Given the description of an element on the screen output the (x, y) to click on. 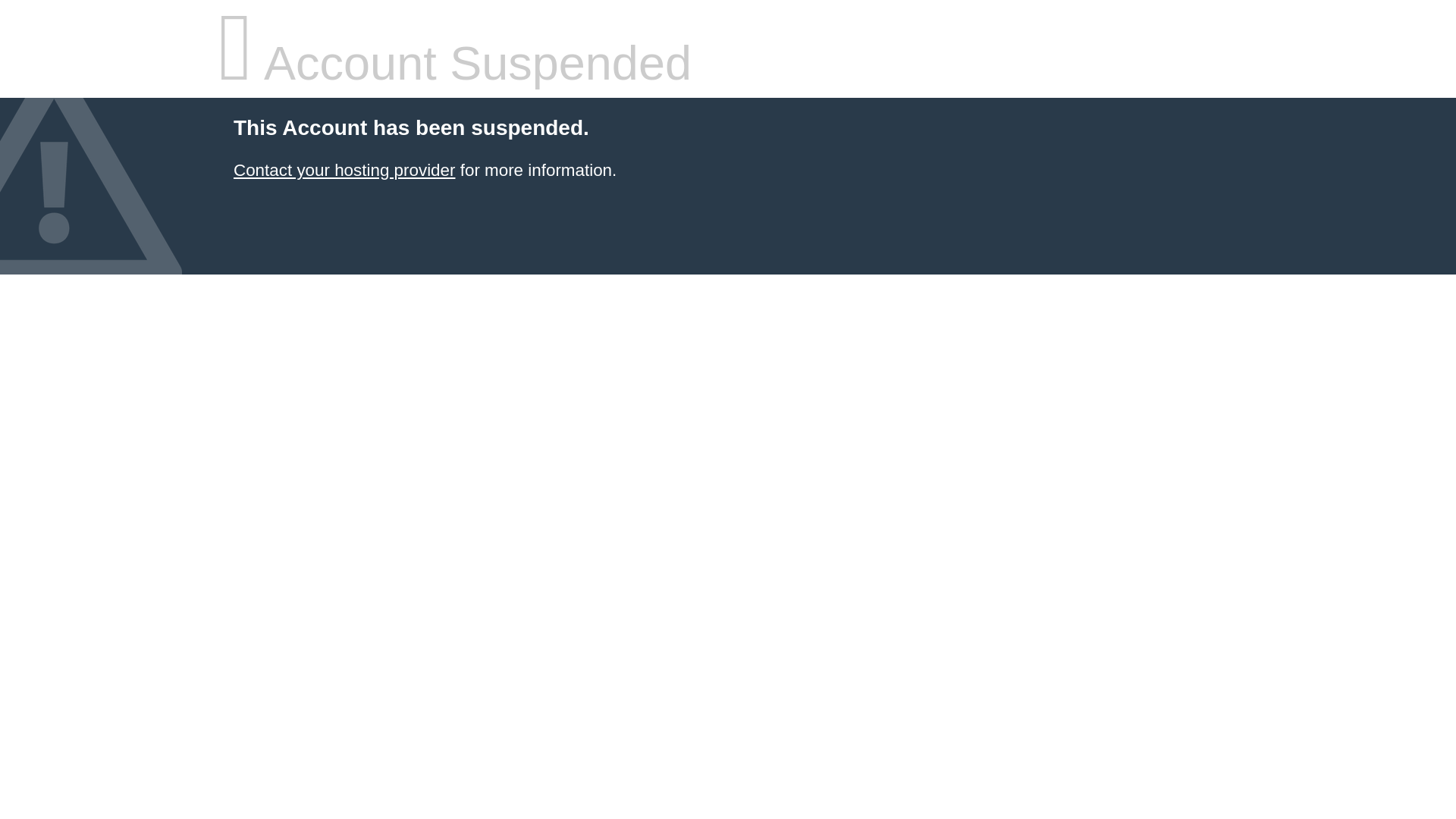
Contact your hosting provider (343, 169)
